Given the description of an element on the screen output the (x, y) to click on. 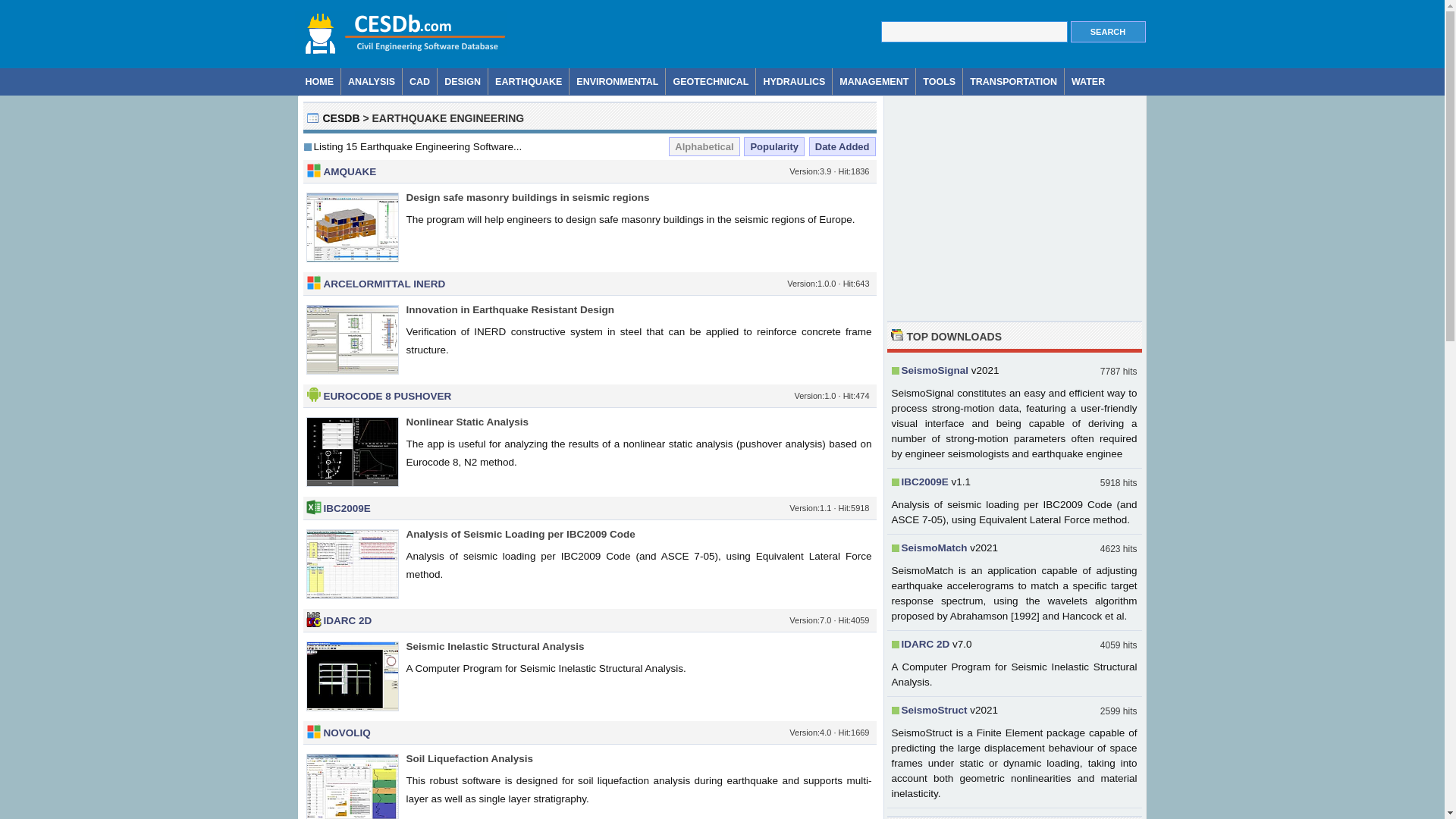
CAD (420, 81)
HYDRAULICS (793, 81)
IDARC 2D (347, 620)
ARCELORMITTAL INERD (384, 283)
SEARCH (1107, 31)
TRANSPORTATION (1013, 81)
Analysis of Seismic Loading per IBC2009 Code (520, 533)
TOOLS (938, 81)
WATER (1088, 81)
Soil Liquefaction Analysis (470, 758)
